Given the description of an element on the screen output the (x, y) to click on. 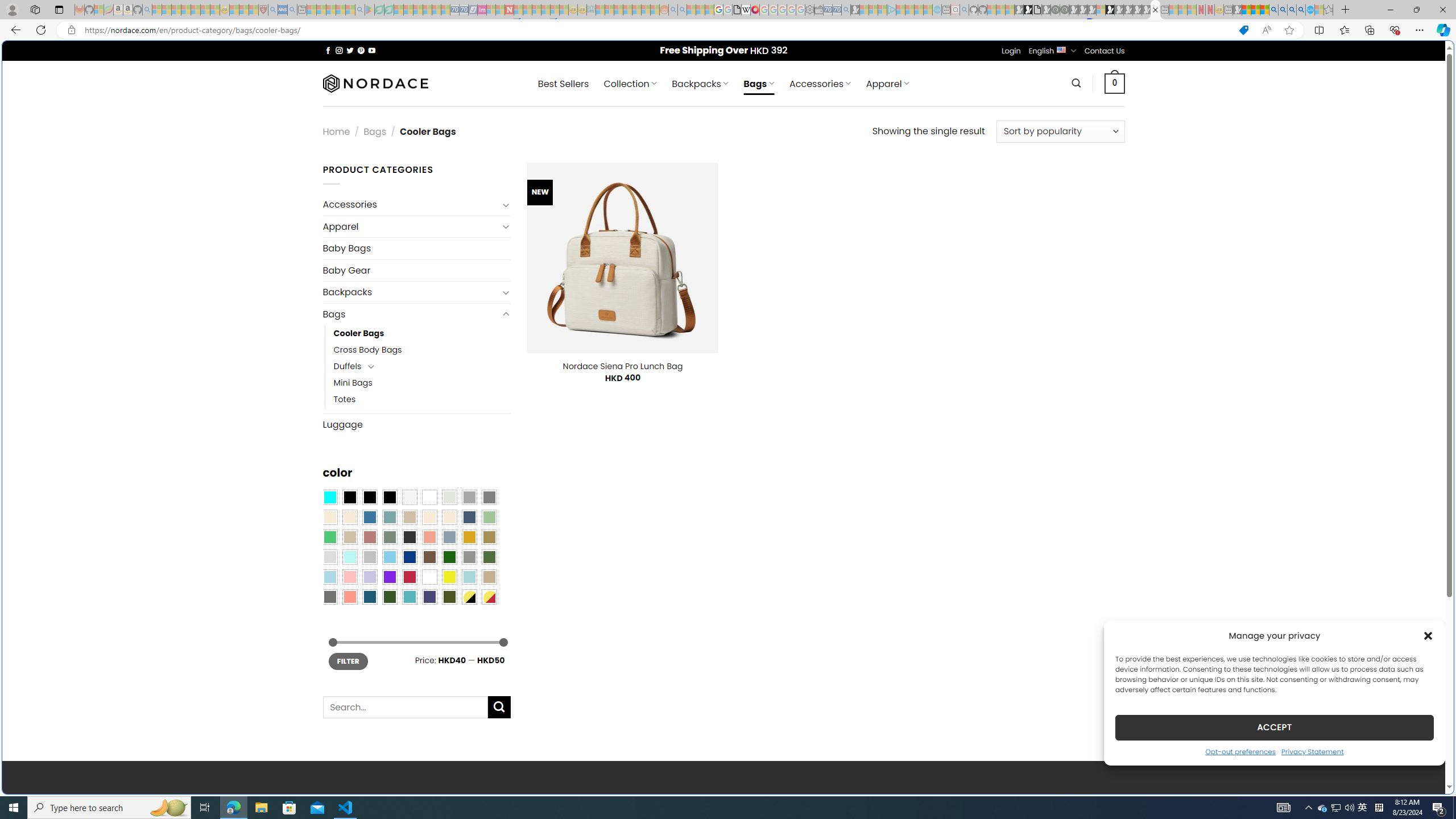
Go to top (1421, 777)
Mini Bags (422, 382)
Baby Gear (416, 270)
Teal (408, 596)
Aqua (468, 577)
Brownie (408, 517)
Baby Gear (416, 269)
Cooler Bags (422, 333)
